Given the description of an element on the screen output the (x, y) to click on. 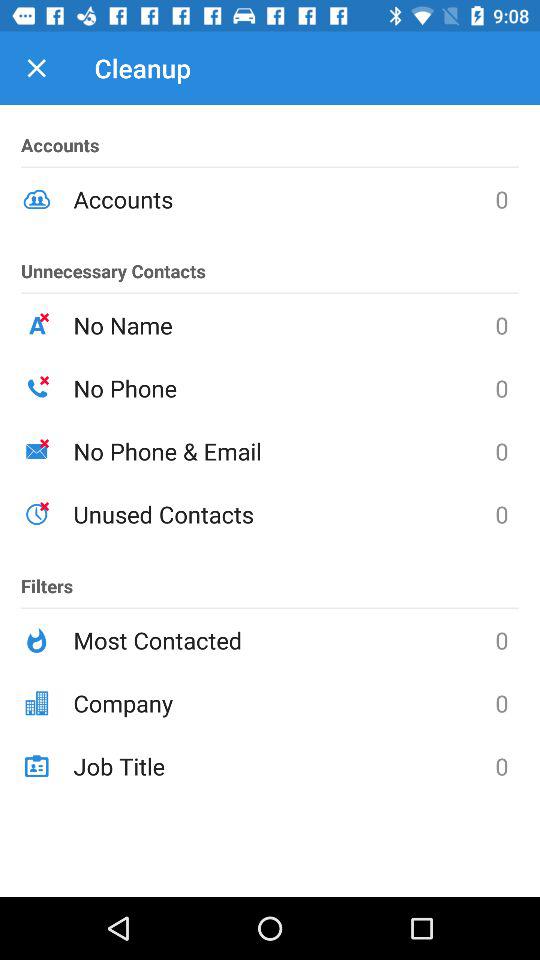
open item next to the 0 (284, 703)
